Given the description of an element on the screen output the (x, y) to click on. 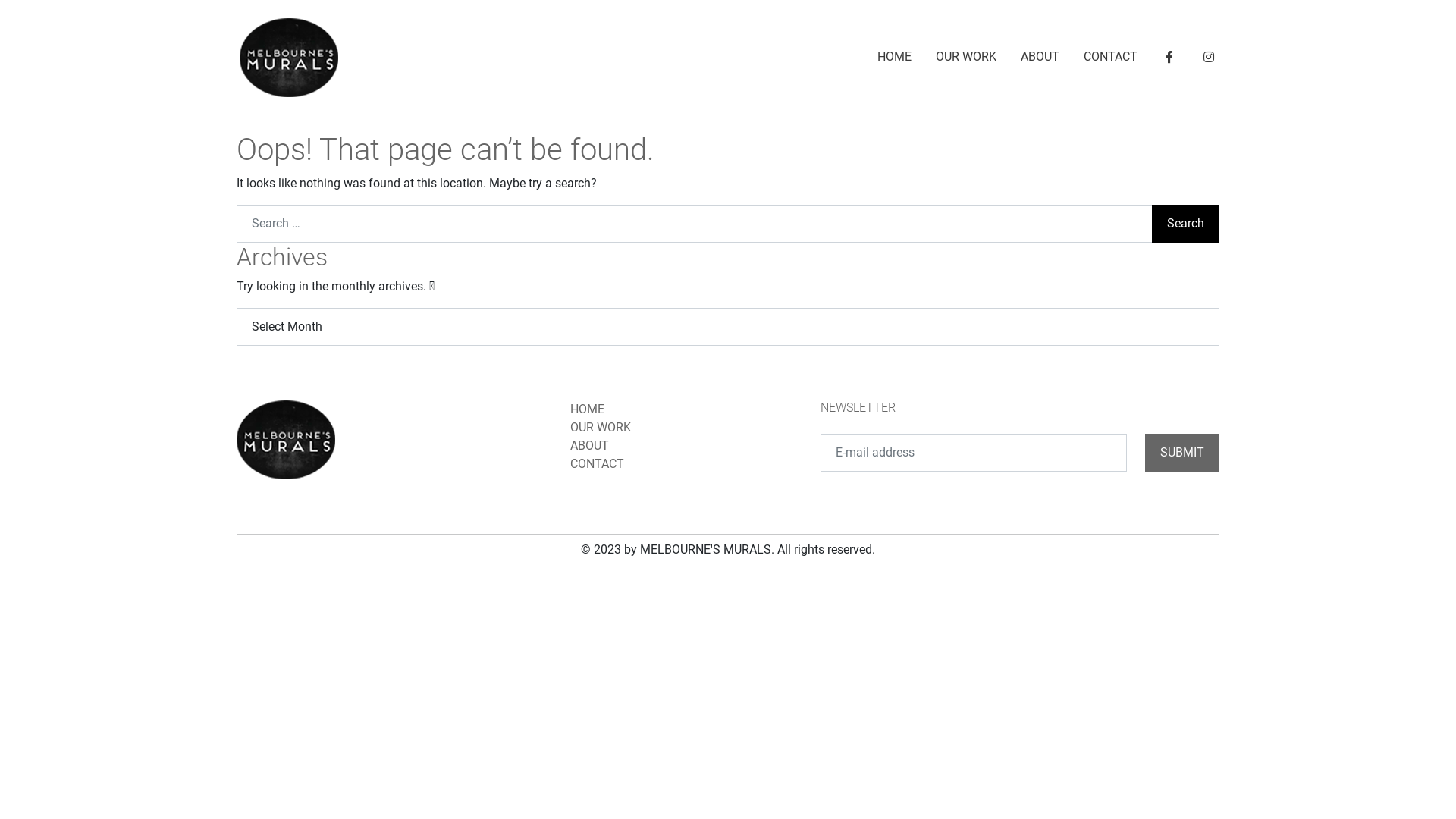
HOME Element type: text (587, 408)
HOME Element type: text (894, 56)
OUR WORK Element type: text (965, 56)
OUR WORK Element type: text (600, 427)
SUBMIT Element type: text (1182, 452)
ABOUT Element type: text (1039, 56)
CONTACT Element type: text (597, 463)
CONTACT Element type: text (1110, 56)
ABOUT Element type: text (589, 445)
Search Element type: text (1185, 223)
